Given the description of an element on the screen output the (x, y) to click on. 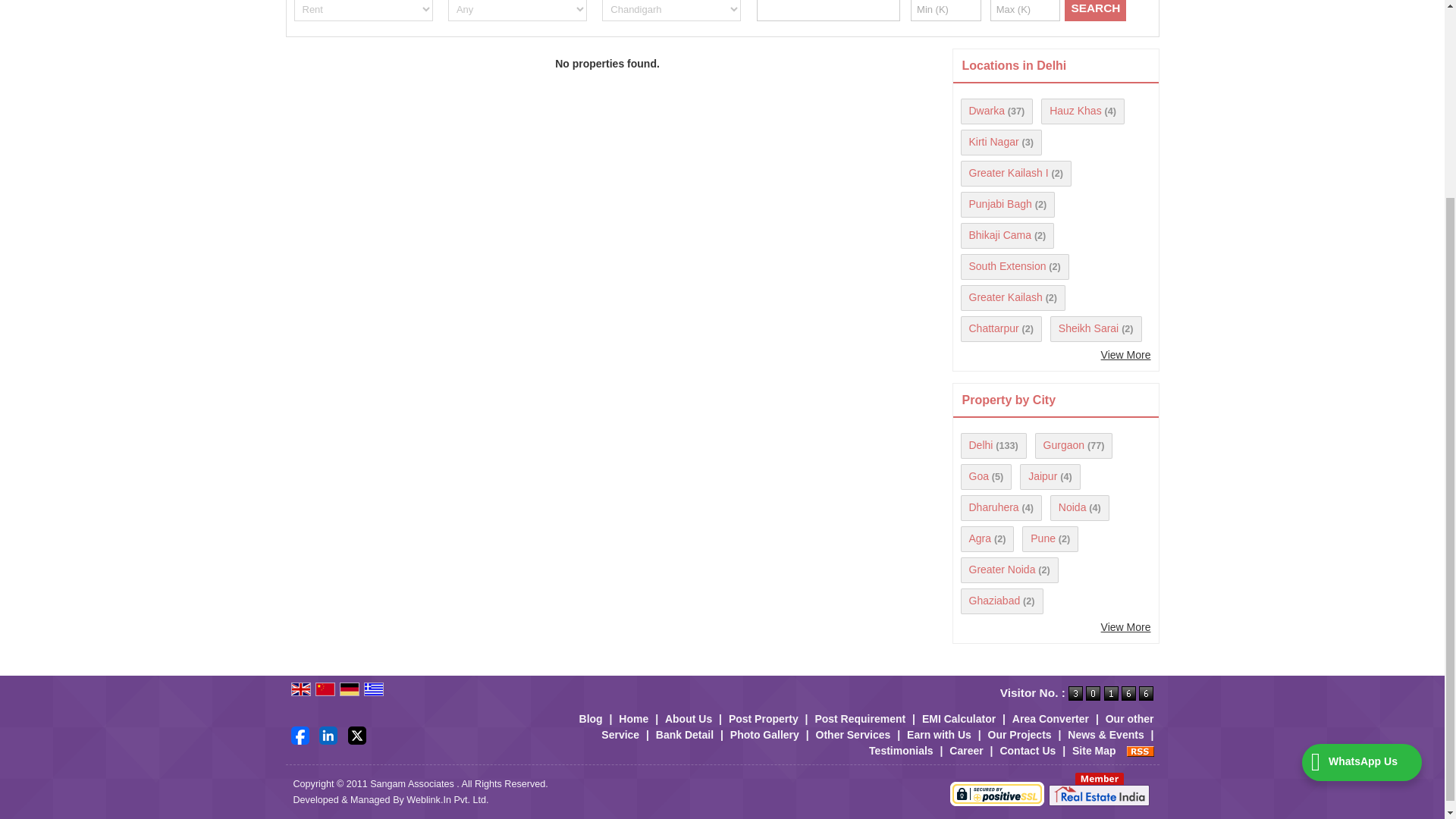
SEARCH (1094, 10)
